Given the description of an element on the screen output the (x, y) to click on. 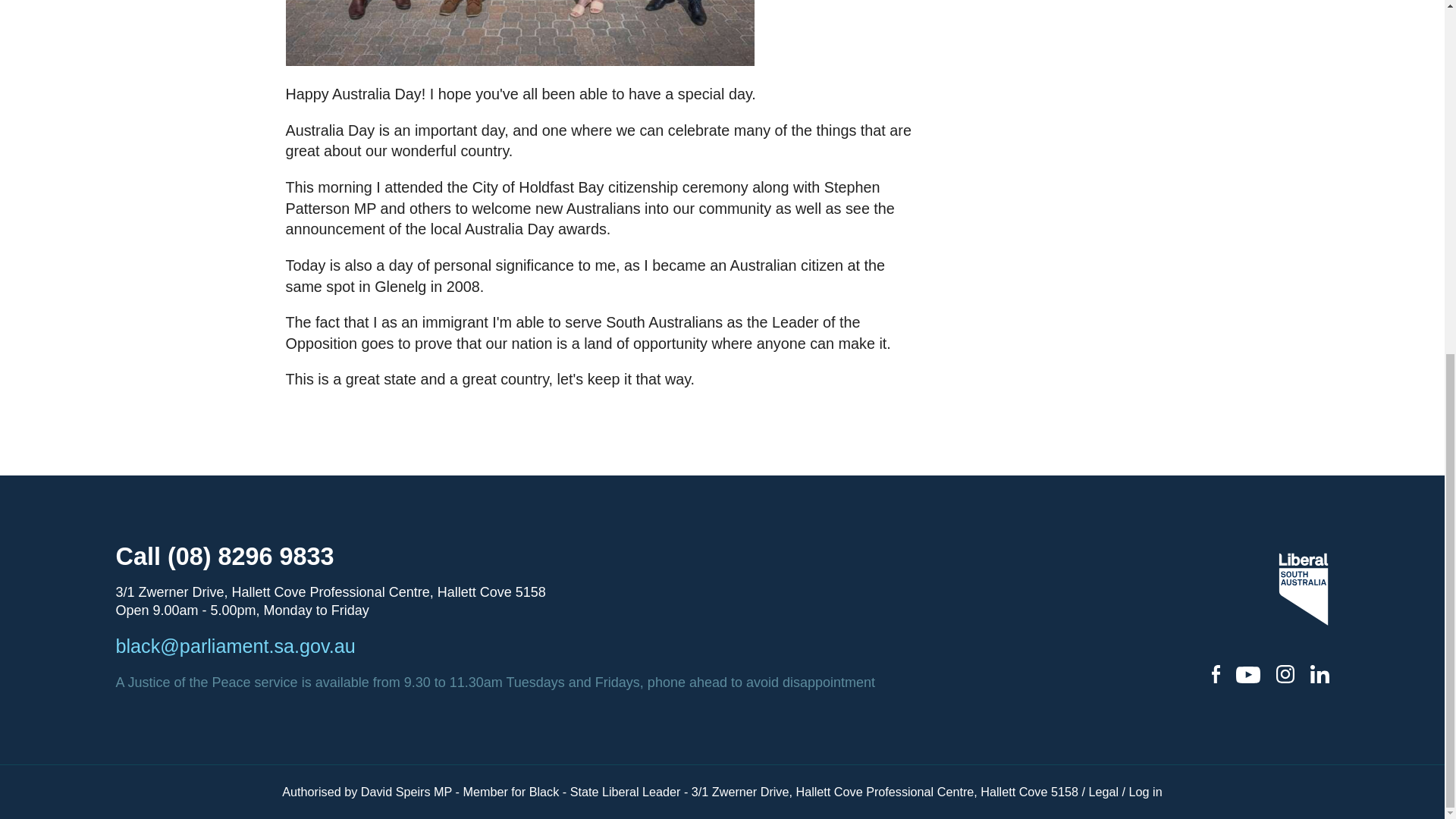
Legal (1102, 791)
Log in (1145, 791)
